Given the description of an element on the screen output the (x, y) to click on. 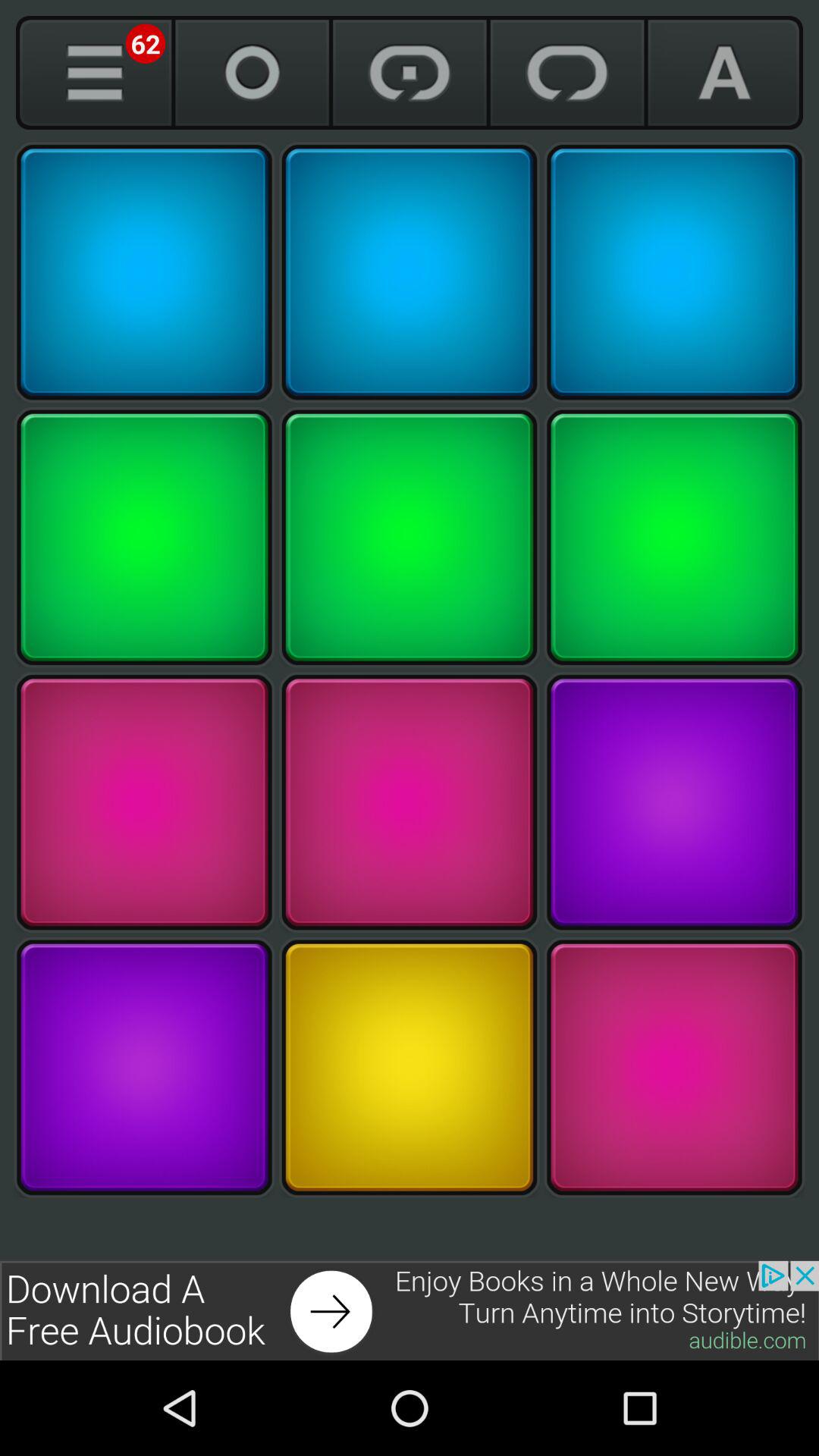
click to make beat (674, 802)
